Given the description of an element on the screen output the (x, y) to click on. 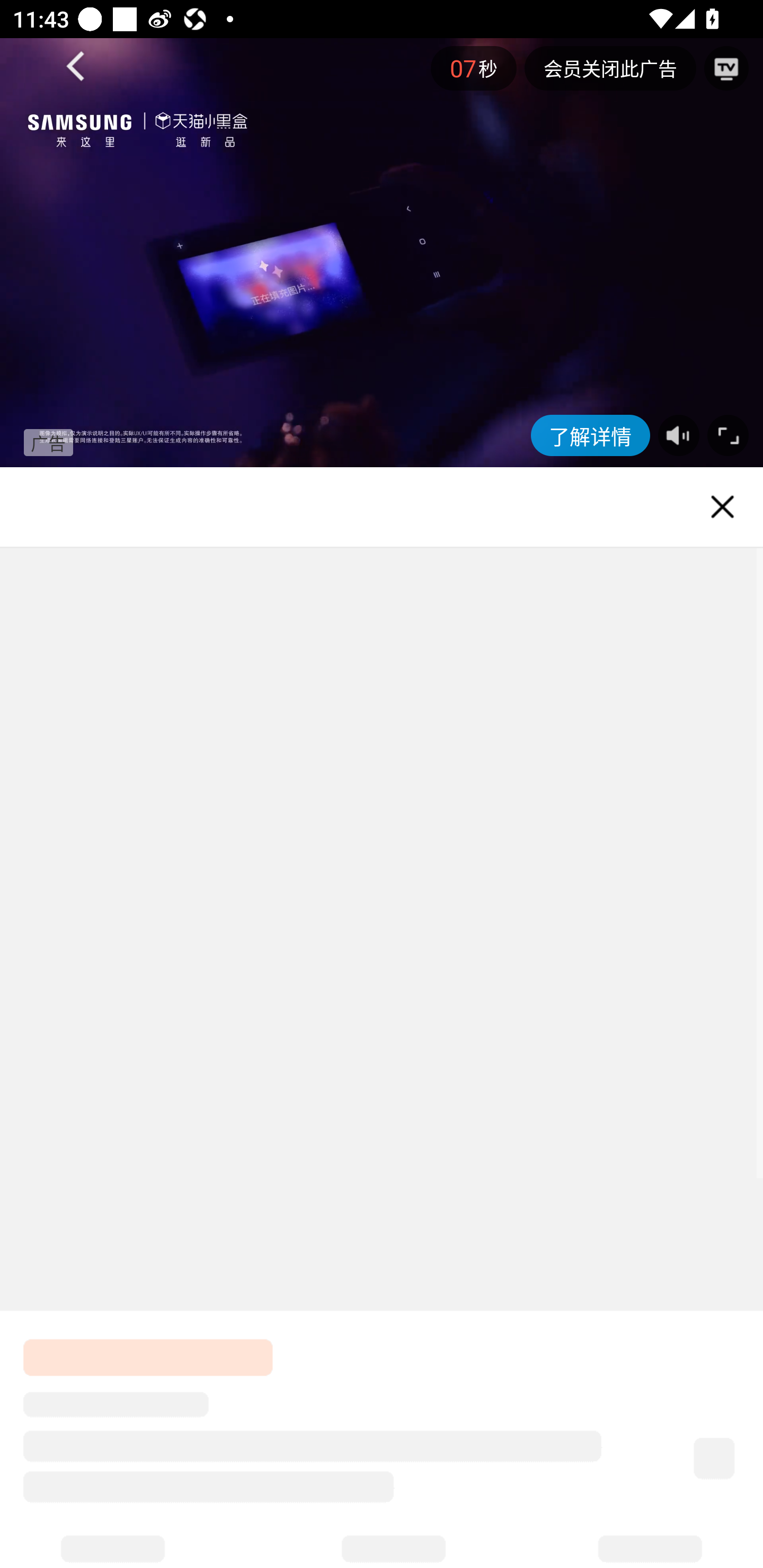
07 秒 会员关闭此广告 投屏 广告 了解详情 开启或关闭广告声音 全屏按钮 (381, 252)
返回 (76, 66)
07 秒 (473, 67)
会员关闭此广告 (609, 67)
投屏 (726, 67)
开启或关闭广告声音 (678, 435)
全屏按钮 (723, 435)
